Given the description of an element on the screen output the (x, y) to click on. 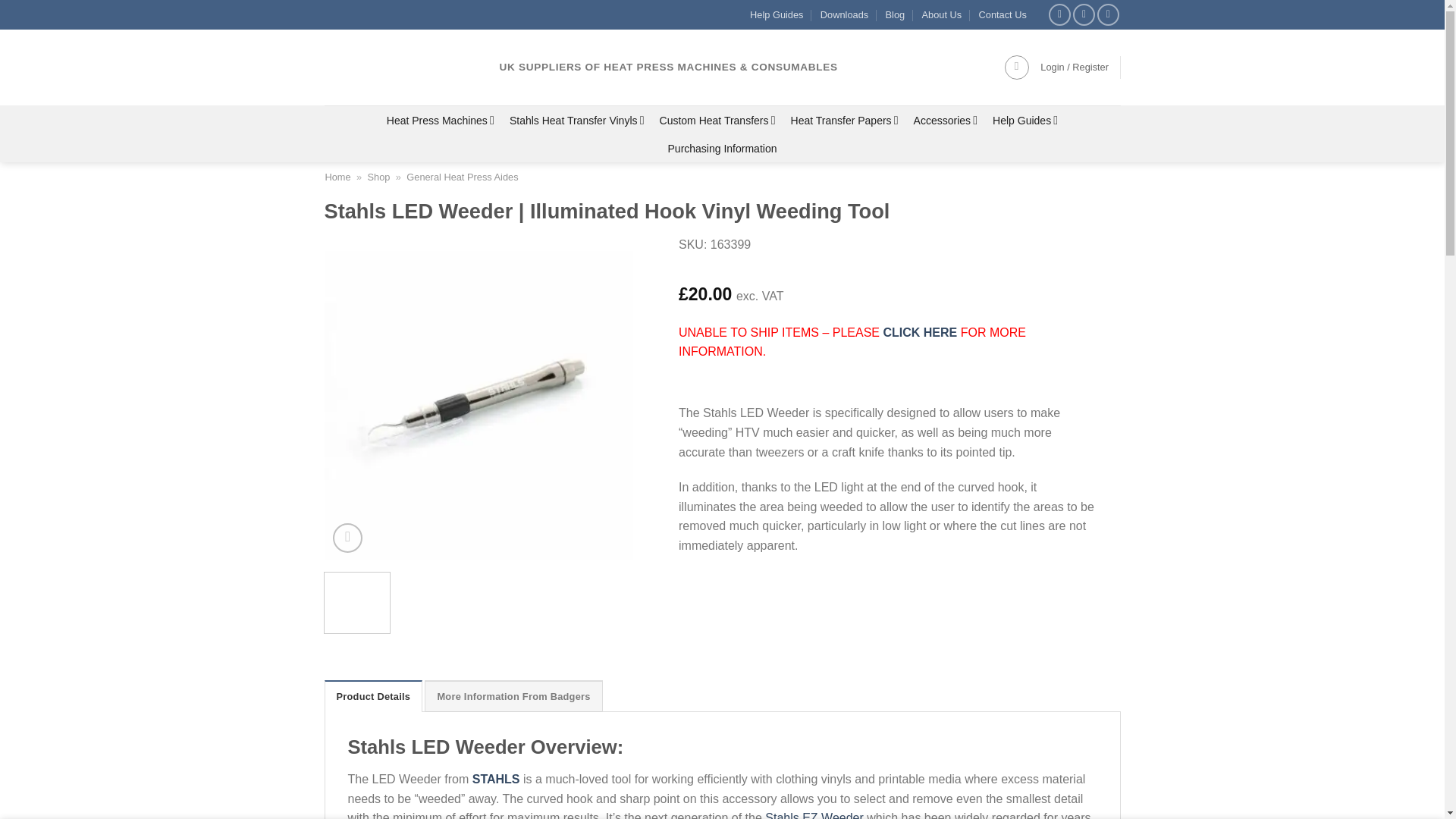
About Us (941, 14)
Help Guides (776, 14)
Follow on Twitter (1083, 14)
Stahls LED Weeder (1096, 405)
Downloads (844, 14)
Follow on LinkedIn (1108, 14)
Zoom (347, 537)
Stahls LED Weeder (787, 405)
Heat Press Machines (440, 120)
